Given the description of an element on the screen output the (x, y) to click on. 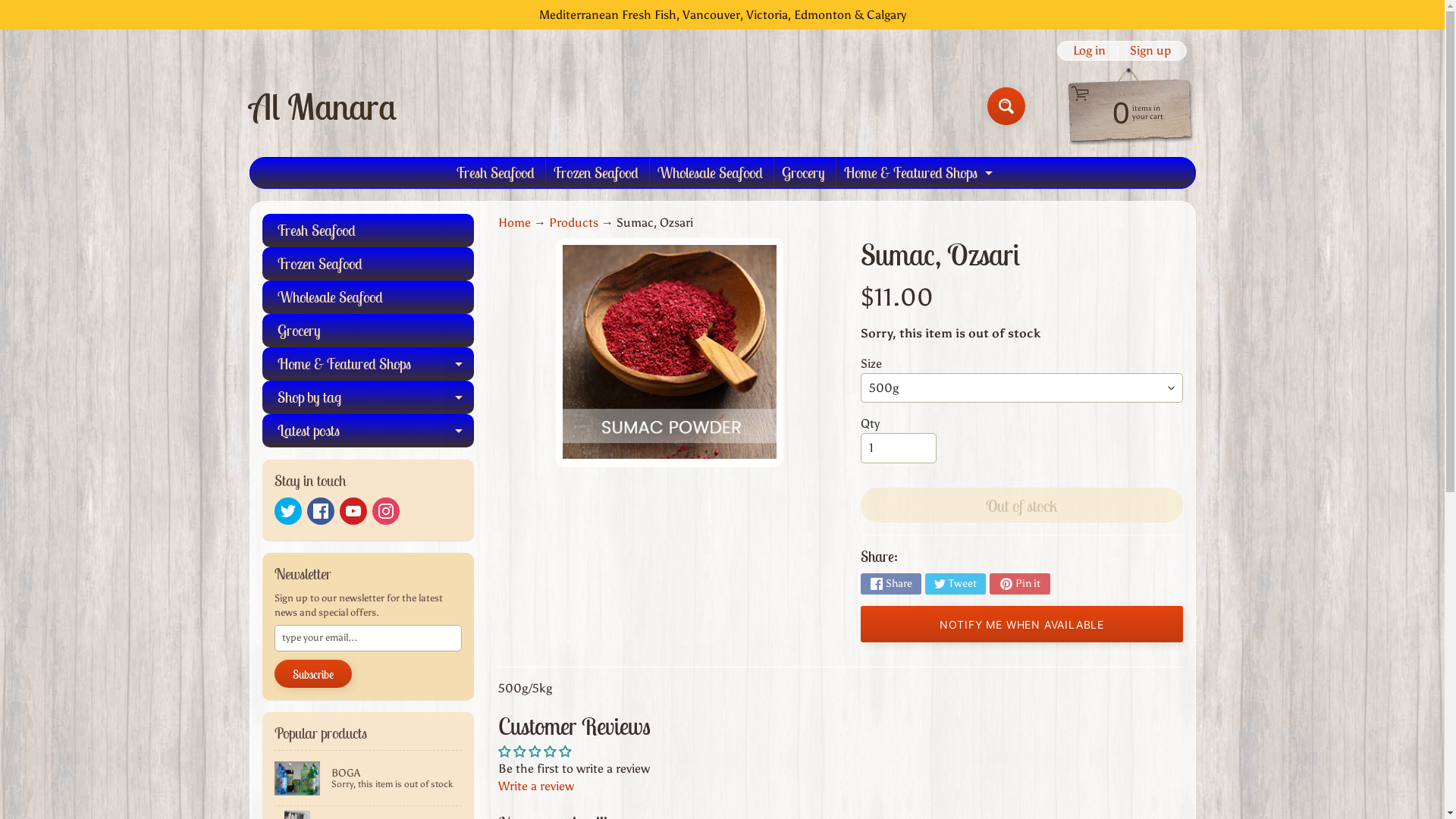
Write a review Element type: text (536, 785)
Al Manara Element type: text (321, 105)
Out of stock Element type: text (1021, 504)
NOTIFY ME WHEN AVAILABLE Element type: text (1021, 623)
Fresh Seafood Element type: text (368, 230)
Grocery Element type: text (368, 330)
0
items in your cart Element type: text (1122, 111)
Expand child menu Element type: text (458, 397)
BOGA
Sorry, this item is out of stock Element type: text (368, 777)
Latest posts
Expand child menu Element type: text (368, 430)
Subscribe Element type: text (312, 673)
Share Element type: text (890, 583)
Wholesale Seafood Element type: text (368, 296)
Home & Featured Shops
Expand child menu Element type: text (368, 363)
Frozen Seafood Element type: text (596, 172)
Frozen Seafood Element type: text (368, 263)
Expand child menu Element type: text (988, 172)
Fresh Seafood Element type: text (495, 172)
Skip to product information Element type: text (520, 246)
Search Element type: text (1006, 106)
Expand child menu Element type: text (458, 363)
Home & Featured Shops
Expand child menu Element type: text (915, 172)
Pin it Element type: text (1019, 583)
Expand child menu Element type: text (458, 430)
Home Element type: text (514, 222)
Skip to content Element type: text (22, 8)
Grocery Element type: text (802, 172)
Instagram Element type: hover (384, 510)
Products Element type: text (573, 222)
Shop by tag
Expand child menu Element type: text (368, 397)
Tweet Element type: text (955, 583)
Sign up Element type: text (1150, 50)
Wholesale Seafood Element type: text (709, 172)
Twitter Element type: hover (287, 510)
Facebook Element type: hover (319, 510)
Log in Element type: text (1088, 50)
Youtube Element type: hover (353, 510)
